Given the description of an element on the screen output the (x, y) to click on. 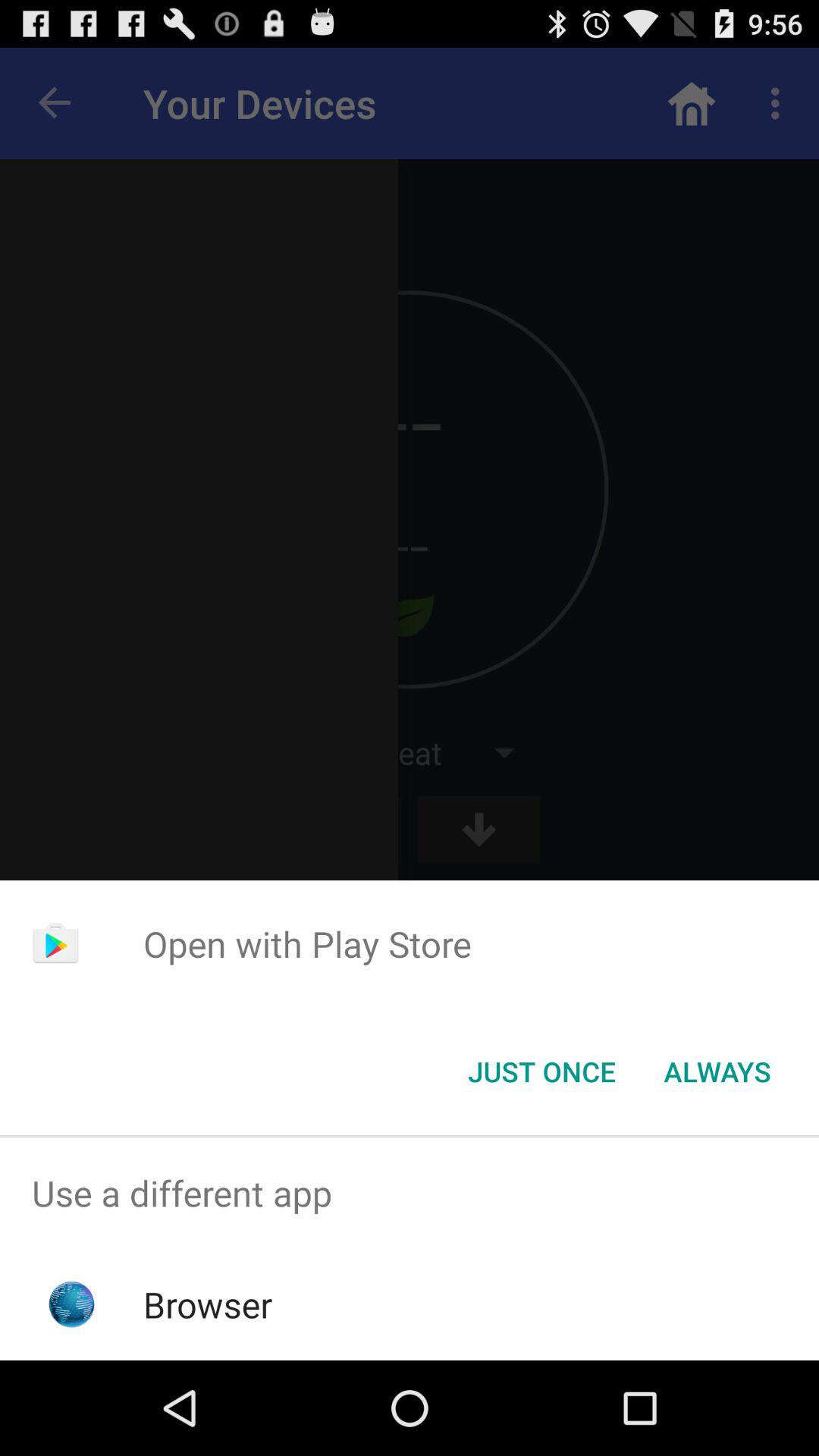
flip until browser item (207, 1304)
